Given the description of an element on the screen output the (x, y) to click on. 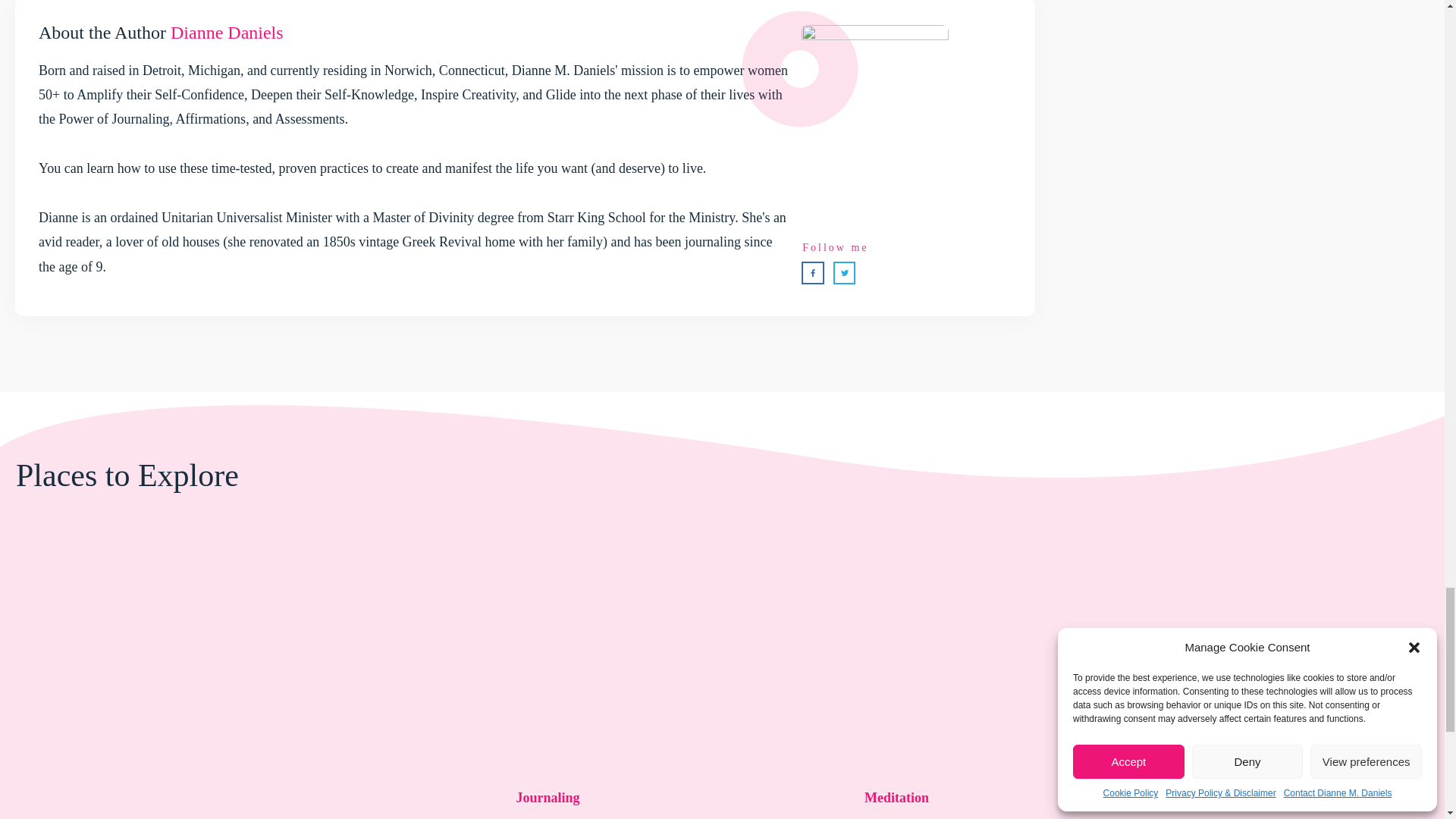
Dianne Daniels (226, 32)
Photo by Brett Jordan (1245, 696)
Dianne Daniels (226, 32)
Photo by Saffu (896, 693)
Photo by Quino Al (199, 690)
Photo by Emily Park (547, 696)
